Given the description of an element on the screen output the (x, y) to click on. 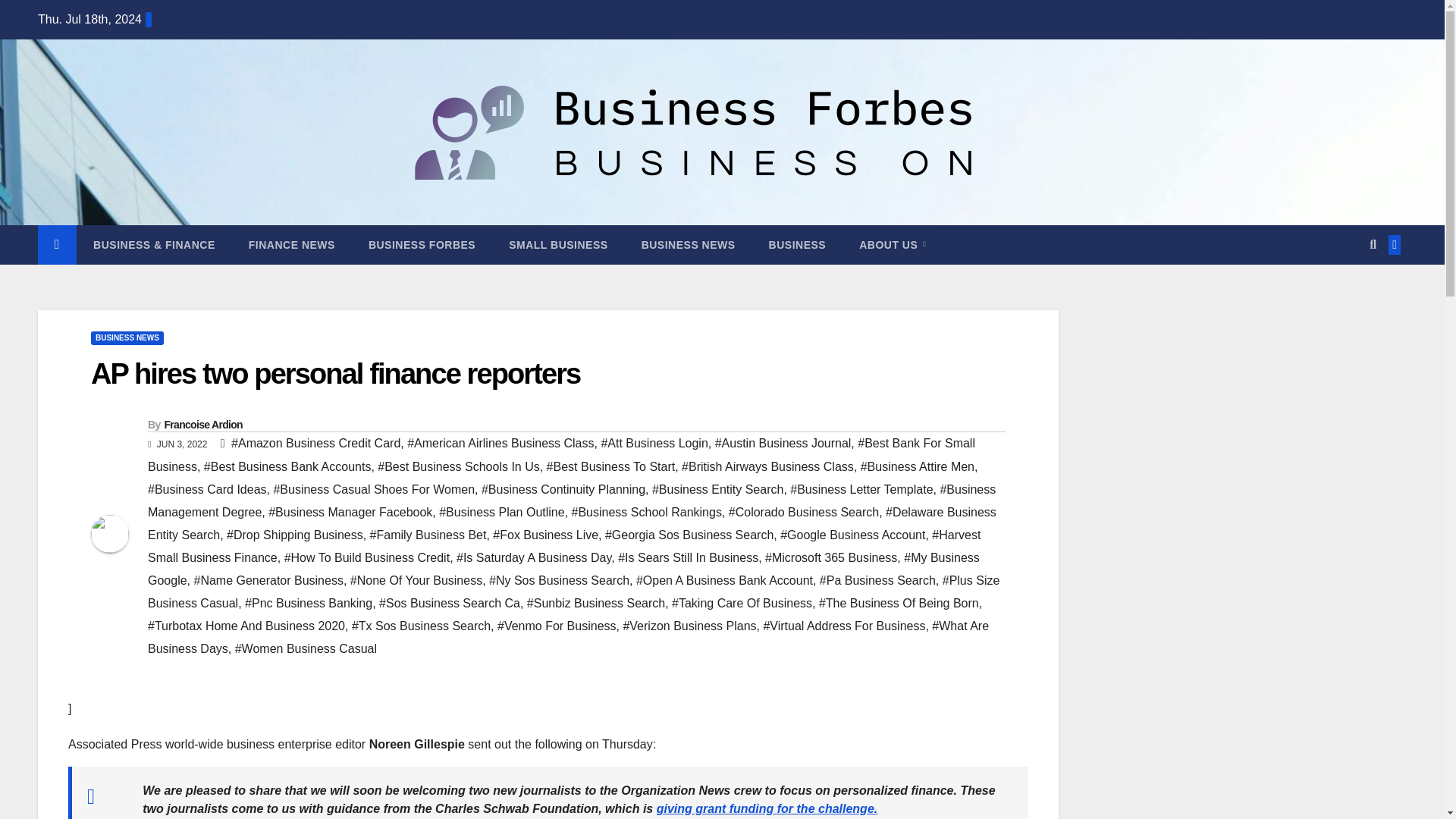
Permalink to: AP hires two personal finance reporters (334, 373)
Business (797, 244)
Francoise Ardion (202, 424)
Business News (688, 244)
Business Forbes (422, 244)
Small Business (558, 244)
BUSINESS NEWS (126, 337)
BUSINESS NEWS (688, 244)
SMALL BUSINESS (558, 244)
BUSINESS (797, 244)
ABOUT US (892, 244)
Finance News (291, 244)
BUSINESS FORBES (422, 244)
FINANCE NEWS (291, 244)
AP hires two personal finance reporters (334, 373)
